Given the description of an element on the screen output the (x, y) to click on. 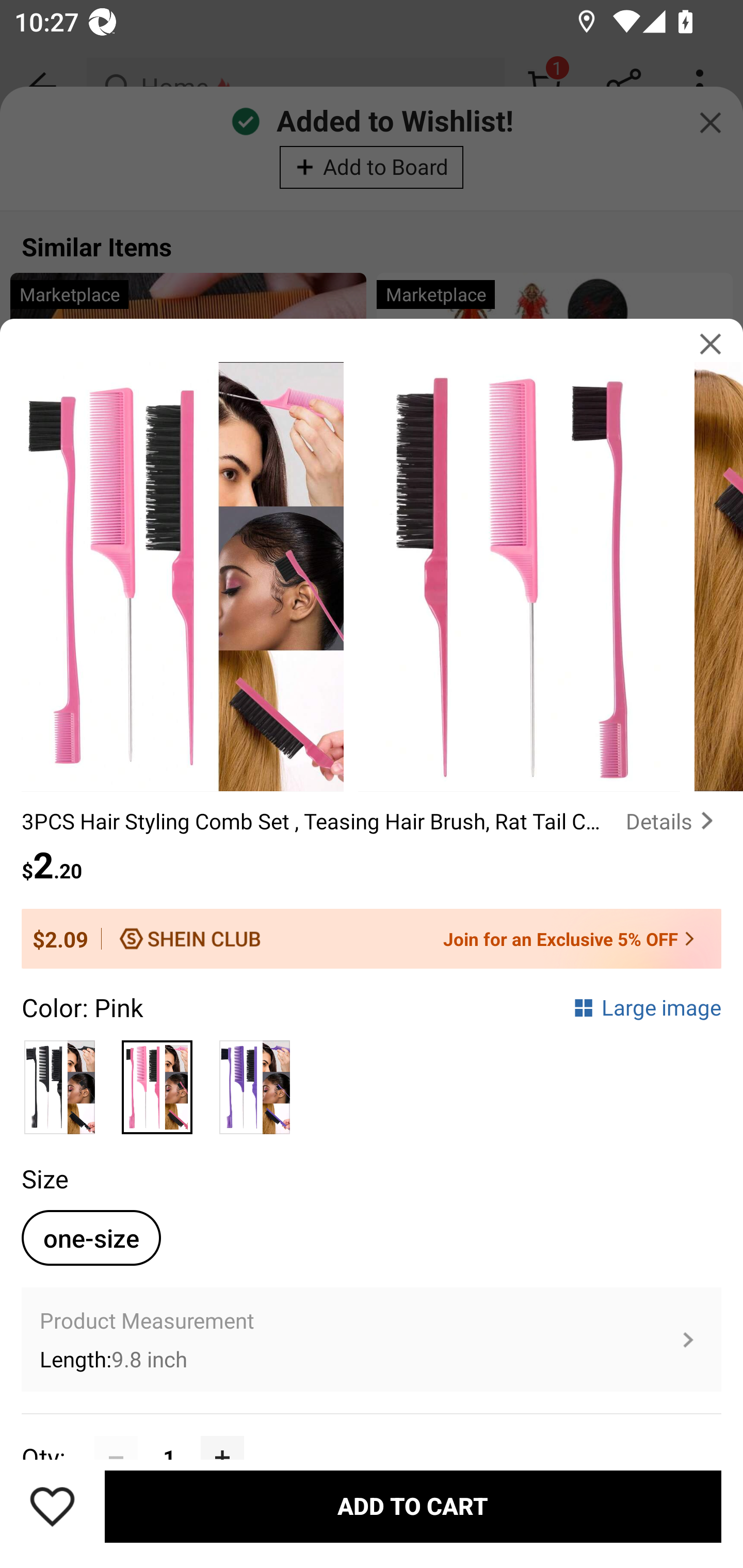
Details (673, 820)
$2.09 Join for an Exclusive 5% OFF (371, 939)
Color: Pink (82, 1006)
Large image (646, 1006)
Black (59, 1081)
Pink (156, 1081)
Lilac Purple (254, 1081)
Size (44, 1177)
one-size one-sizeselected option (91, 1237)
Product Measurement Length:9.8 inch (371, 1339)
ADD TO CART (412, 1506)
Save (52, 1505)
